Given the description of an element on the screen output the (x, y) to click on. 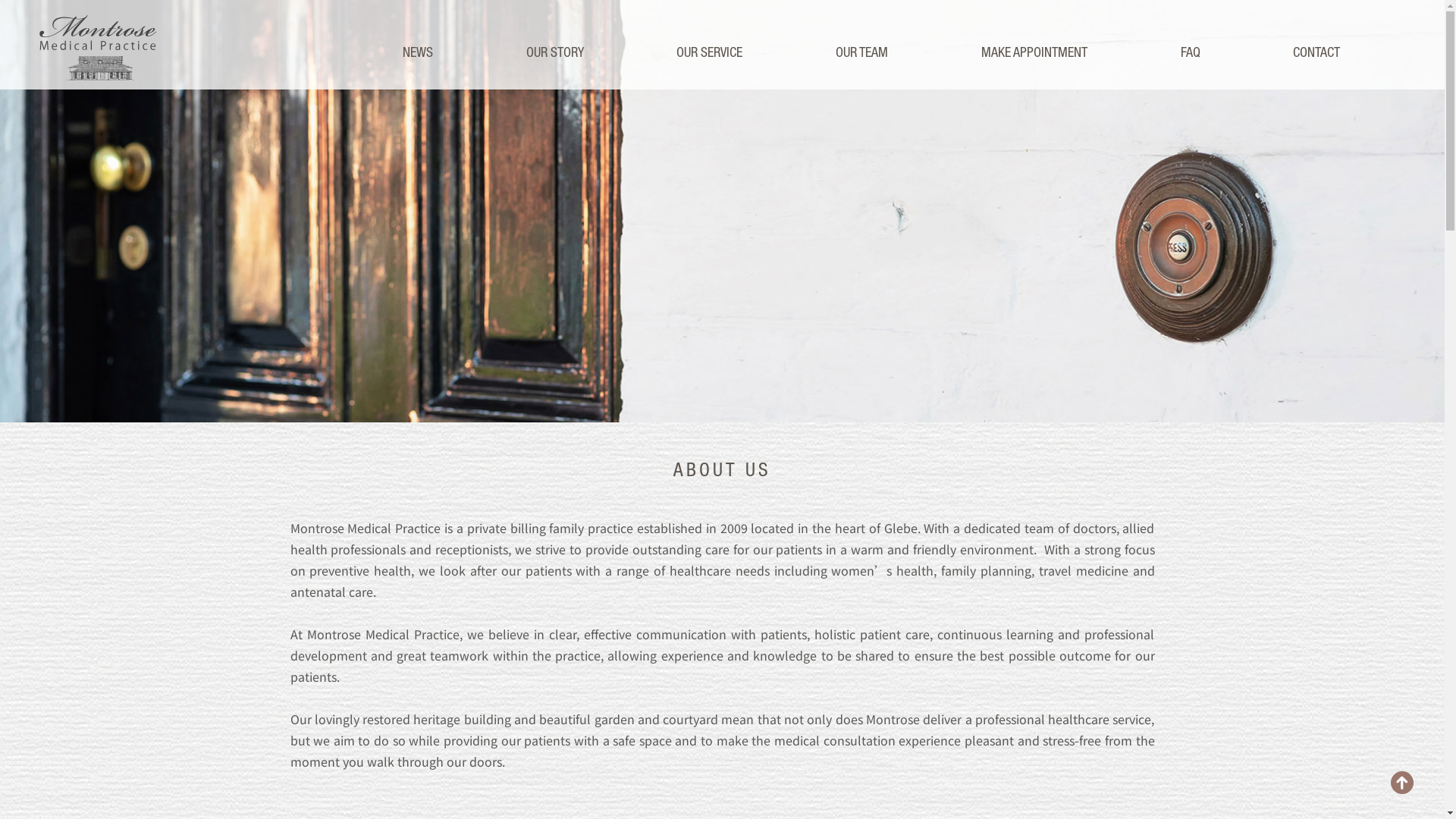
OUR STORY Element type: text (554, 52)
OUR TEAM Element type: text (861, 52)
FAQ Element type: text (1189, 52)
CONTACT Element type: text (1315, 52)
OUR SERVICE Element type: text (709, 52)
NEWS Element type: text (417, 52)
MAKE APPOINTMENT Element type: text (1034, 52)
